Given the description of an element on the screen output the (x, y) to click on. 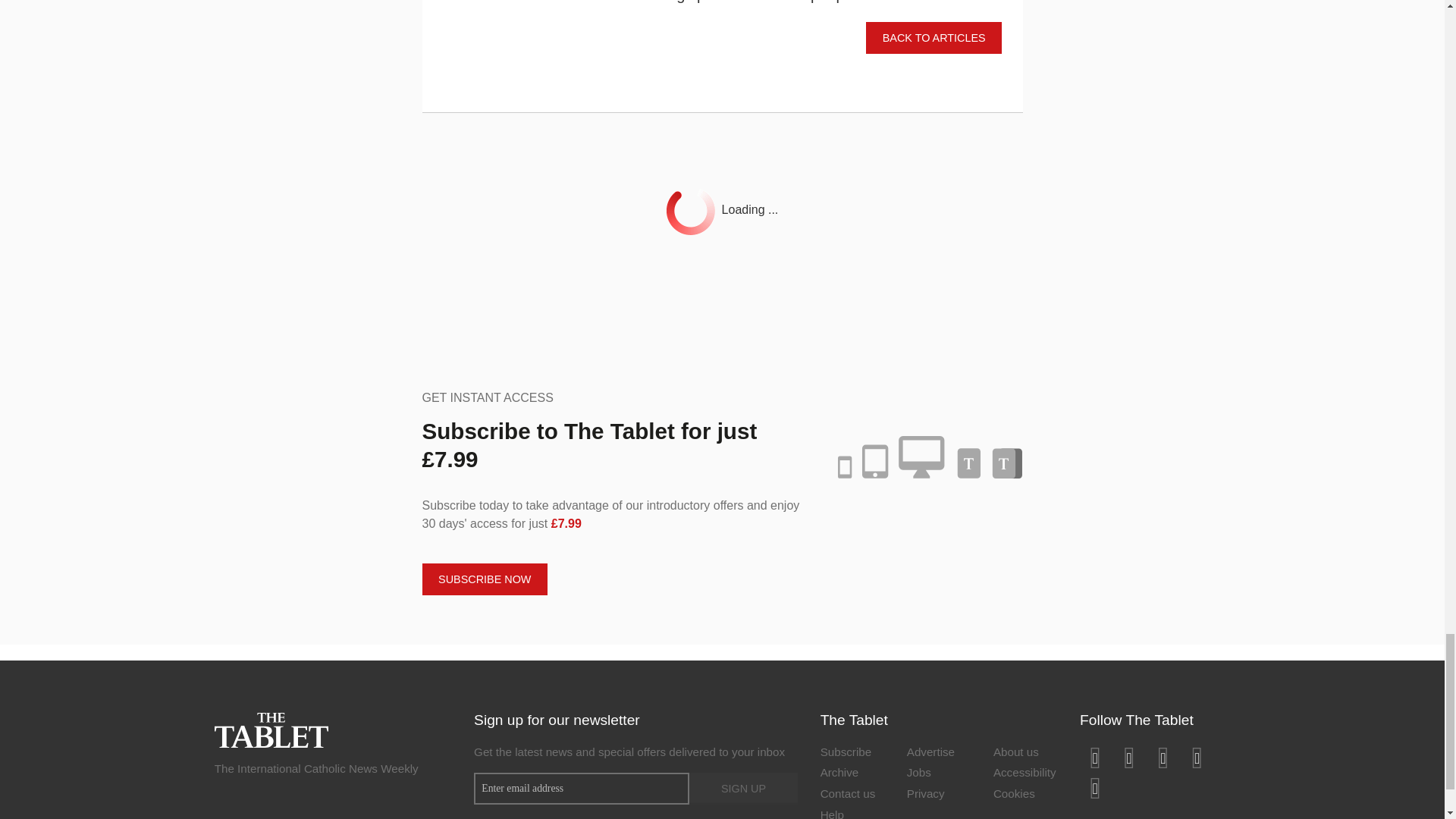
SIGN UP (742, 788)
Help (852, 812)
The Tablet (271, 728)
Contact us (852, 794)
BACK TO ARTICLES (933, 38)
Accessibility (1024, 773)
Help (852, 812)
About us (1024, 753)
Subscribe (852, 753)
Privacy (939, 794)
SUBSCRIBE NOW (484, 579)
Advertise (939, 753)
Archive (852, 773)
Contact Us (852, 794)
Subscribe (852, 753)
